Given the description of an element on the screen output the (x, y) to click on. 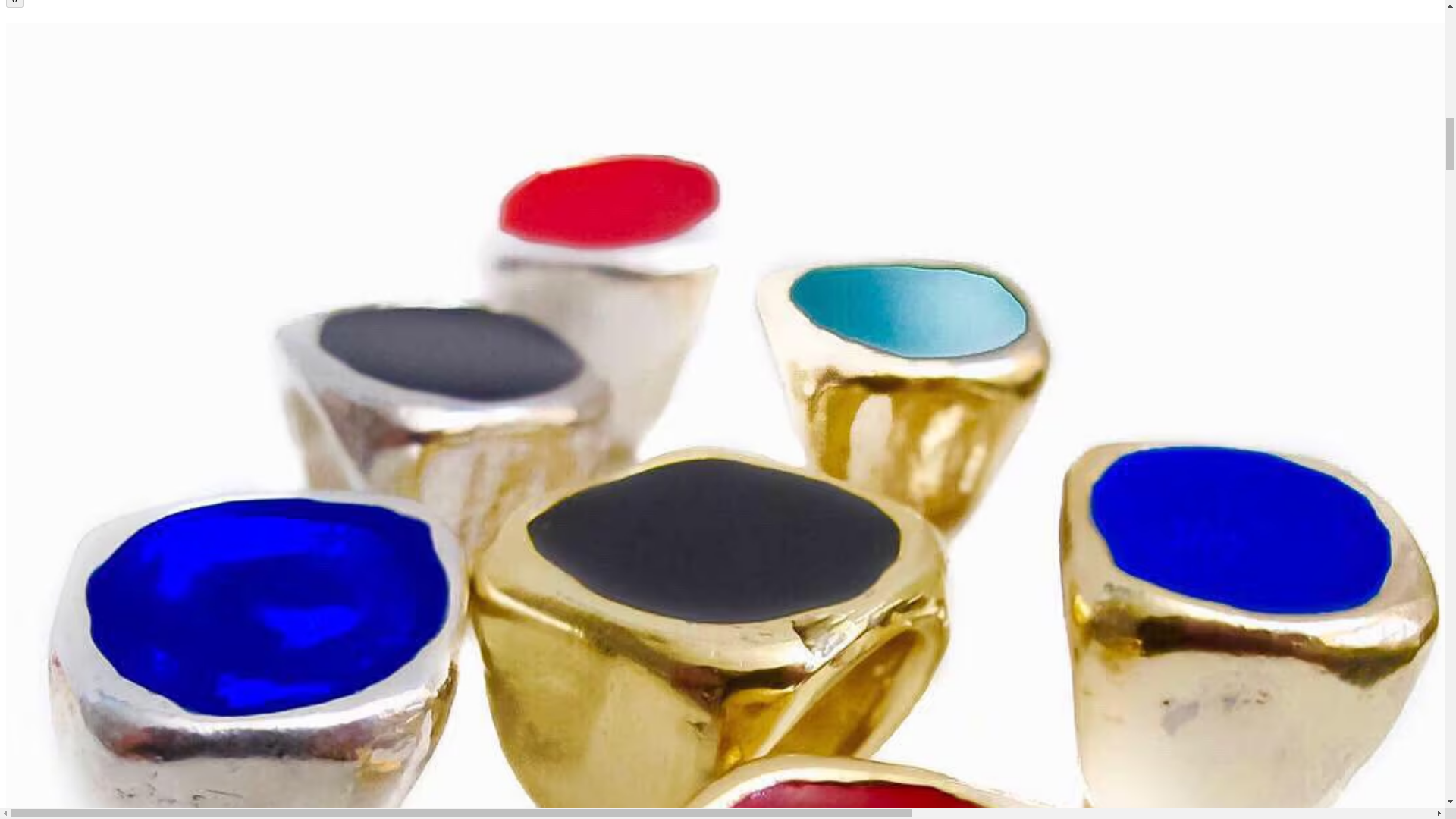
0 (14, 3)
